Given the description of an element on the screen output the (x, y) to click on. 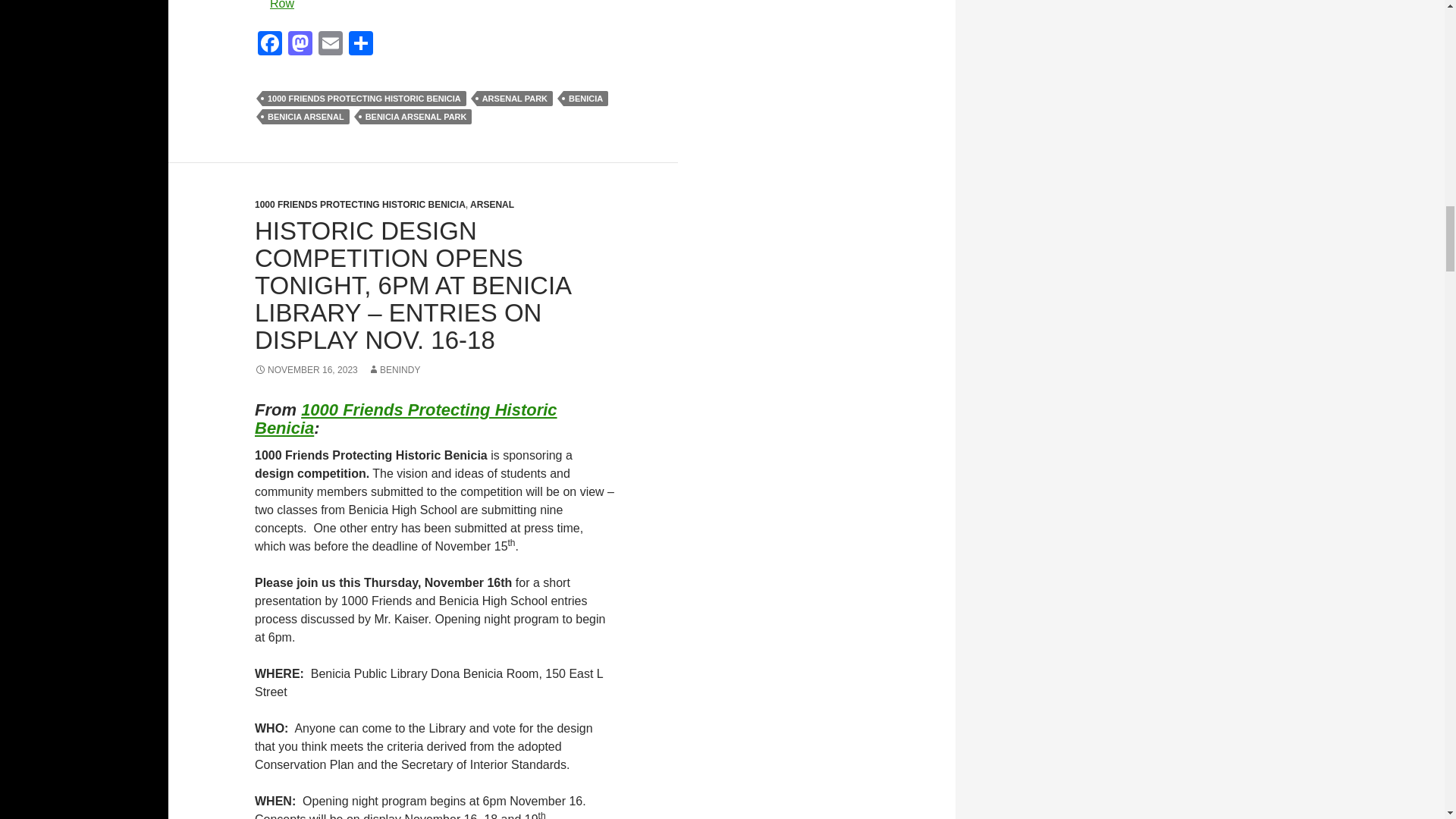
Mastodon (300, 44)
Facebook (269, 44)
Email (330, 44)
